Given the description of an element on the screen output the (x, y) to click on. 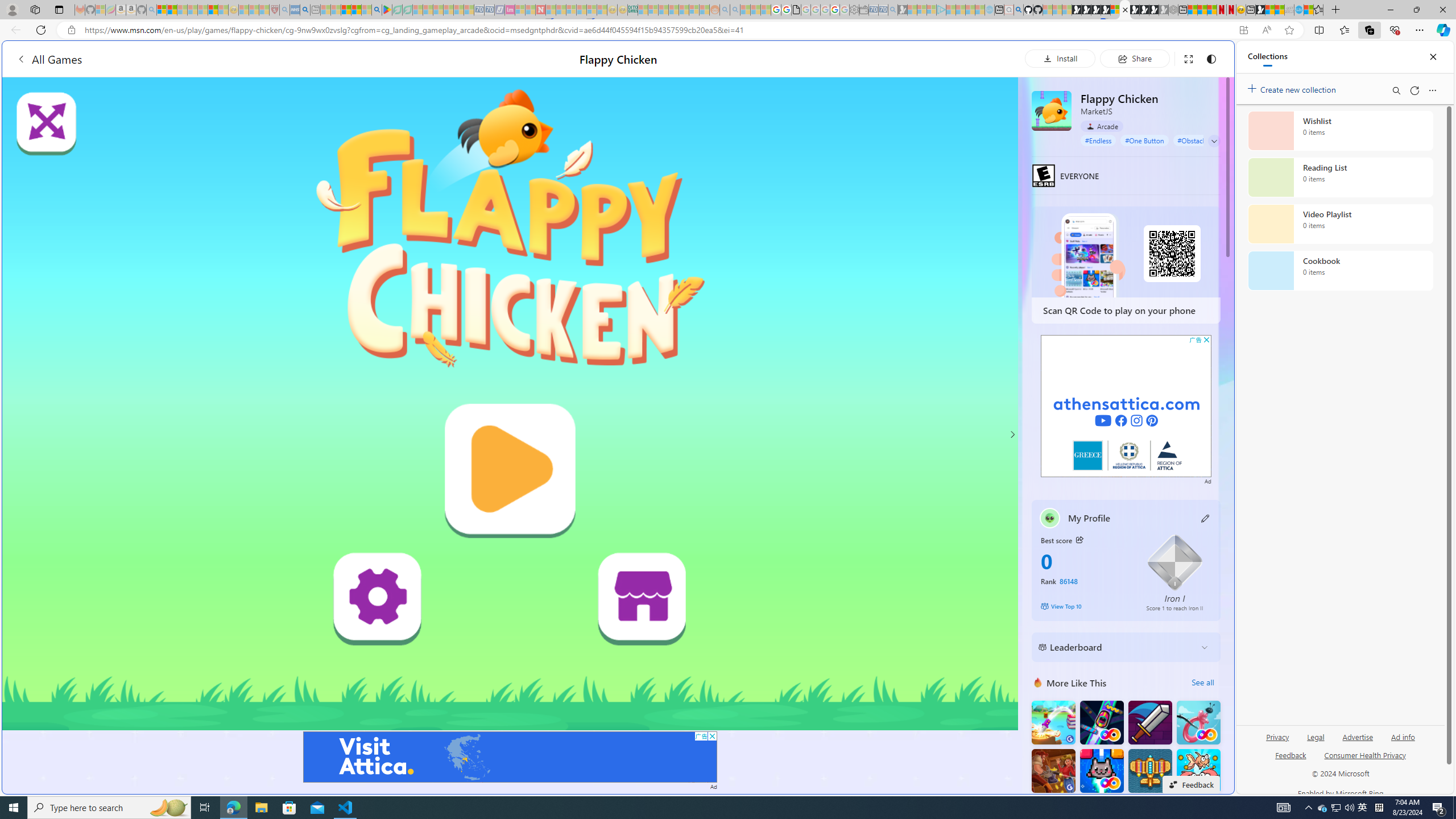
Saloon Robbery (1053, 770)
#One Button (1145, 140)
Tabs you've opened (885, 151)
Flappy Chicken (1051, 110)
Wishlist collection, 0 items (1339, 130)
Bumper Car FRVR (1101, 722)
